Given the description of an element on the screen output the (x, y) to click on. 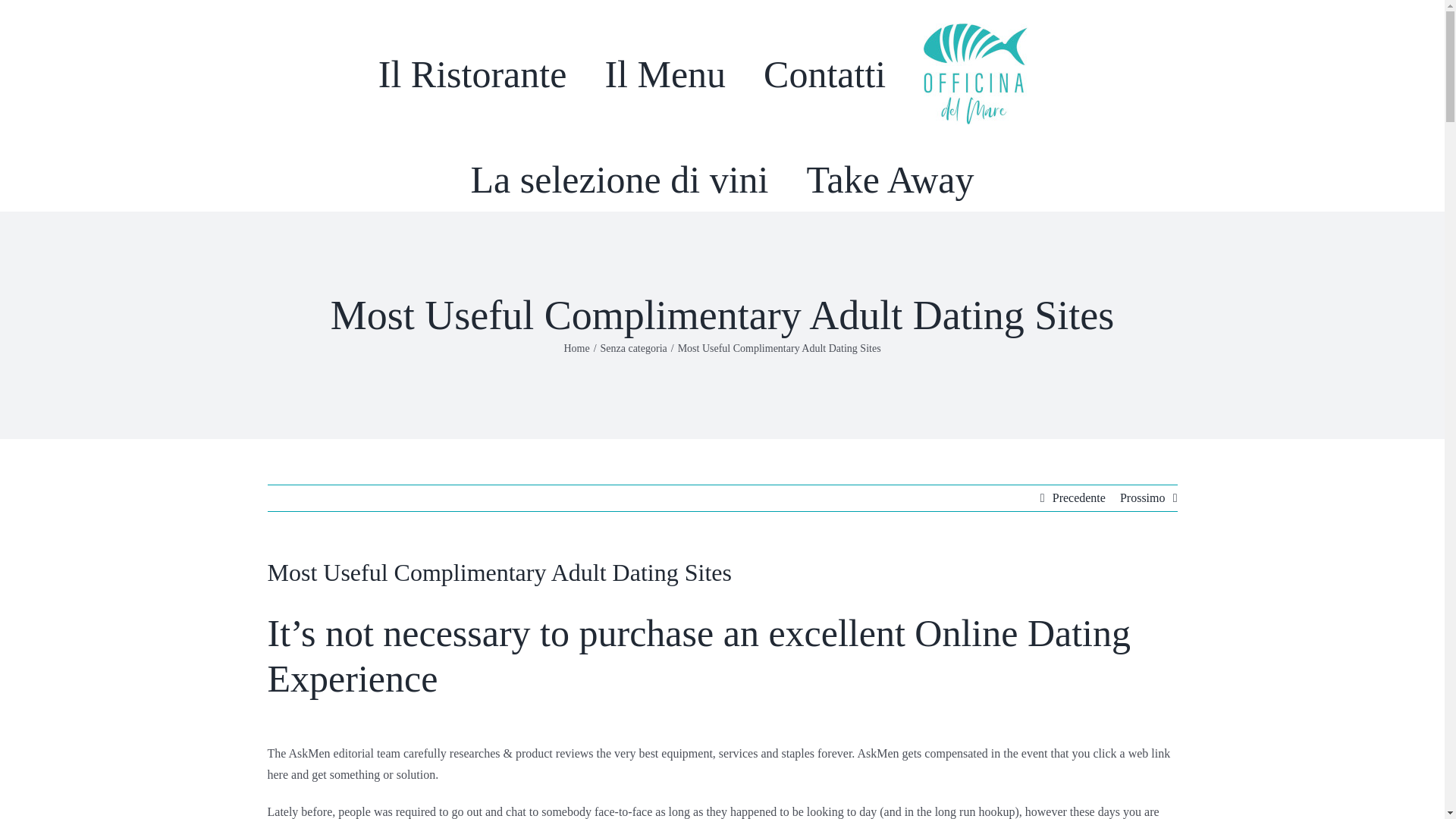
Il Menu (664, 74)
Il Ristorante (472, 74)
Contatti (823, 74)
Precedente (1078, 498)
Prossimo (1142, 498)
La selezione di vini (619, 179)
Senza categoria (632, 348)
Home (576, 348)
Take Away (890, 179)
